Given the description of an element on the screen output the (x, y) to click on. 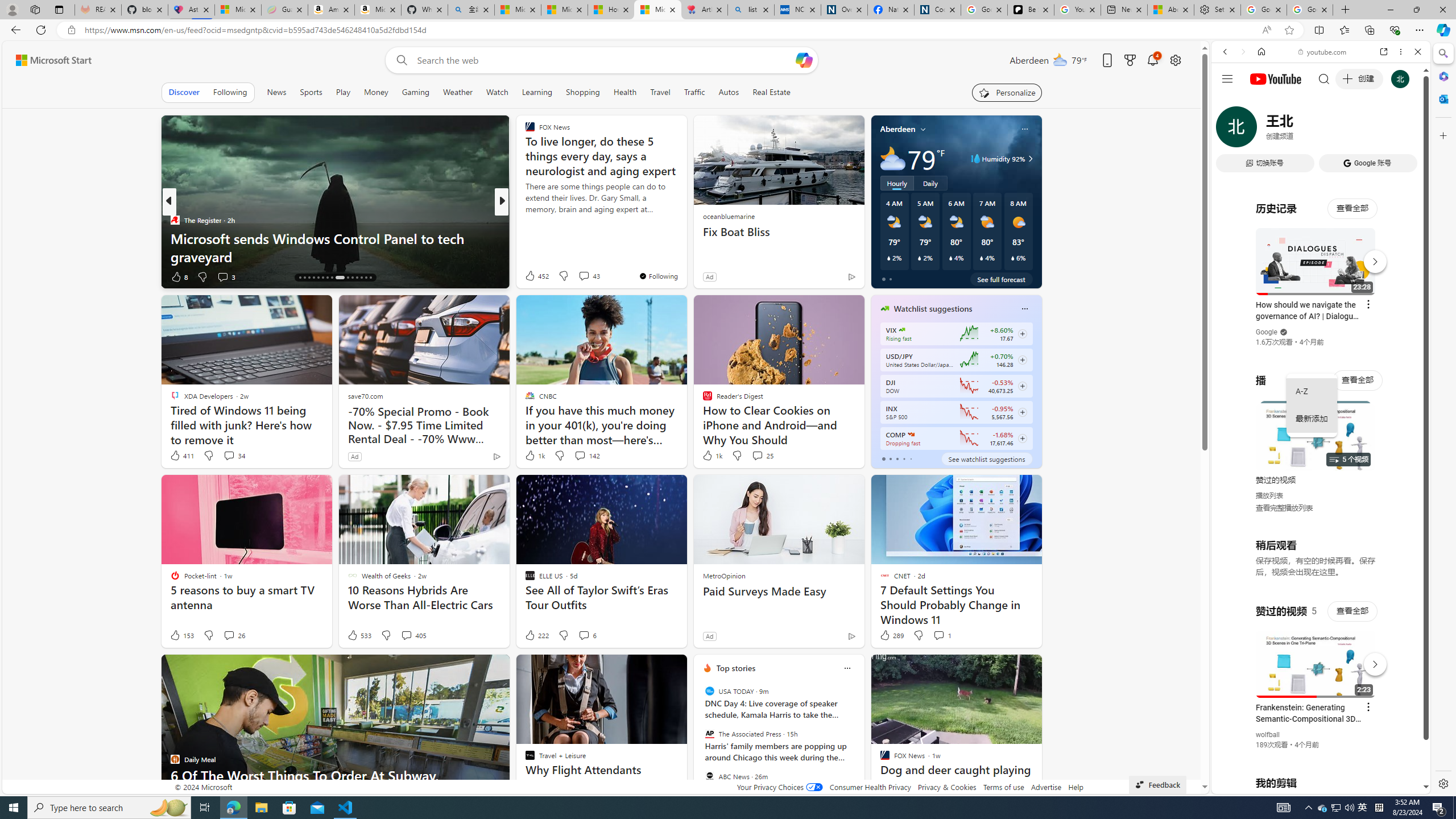
tab-2 (897, 458)
Sports (310, 92)
The Register (174, 219)
Gaming (415, 92)
Moneywise (524, 219)
182 Like (532, 276)
Shopping (582, 92)
AutomationID: tab-16 (299, 277)
View comments 7 Comment (583, 276)
